Given the description of an element on the screen output the (x, y) to click on. 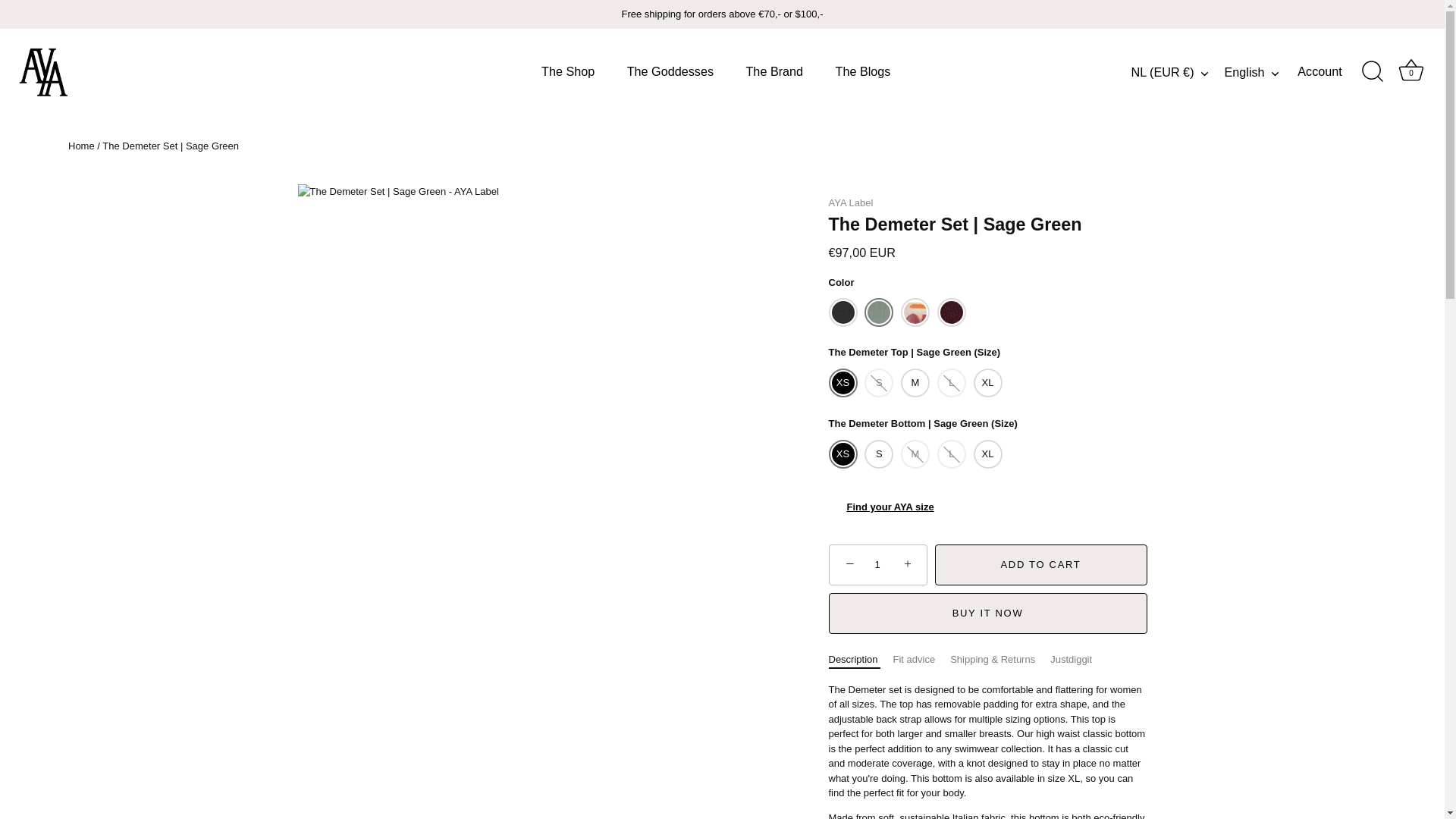
The Goddesses (669, 71)
The Shop (568, 71)
Back to the frontpage (81, 145)
The Brand (773, 71)
Basket (1410, 70)
